Given the description of an element on the screen output the (x, y) to click on. 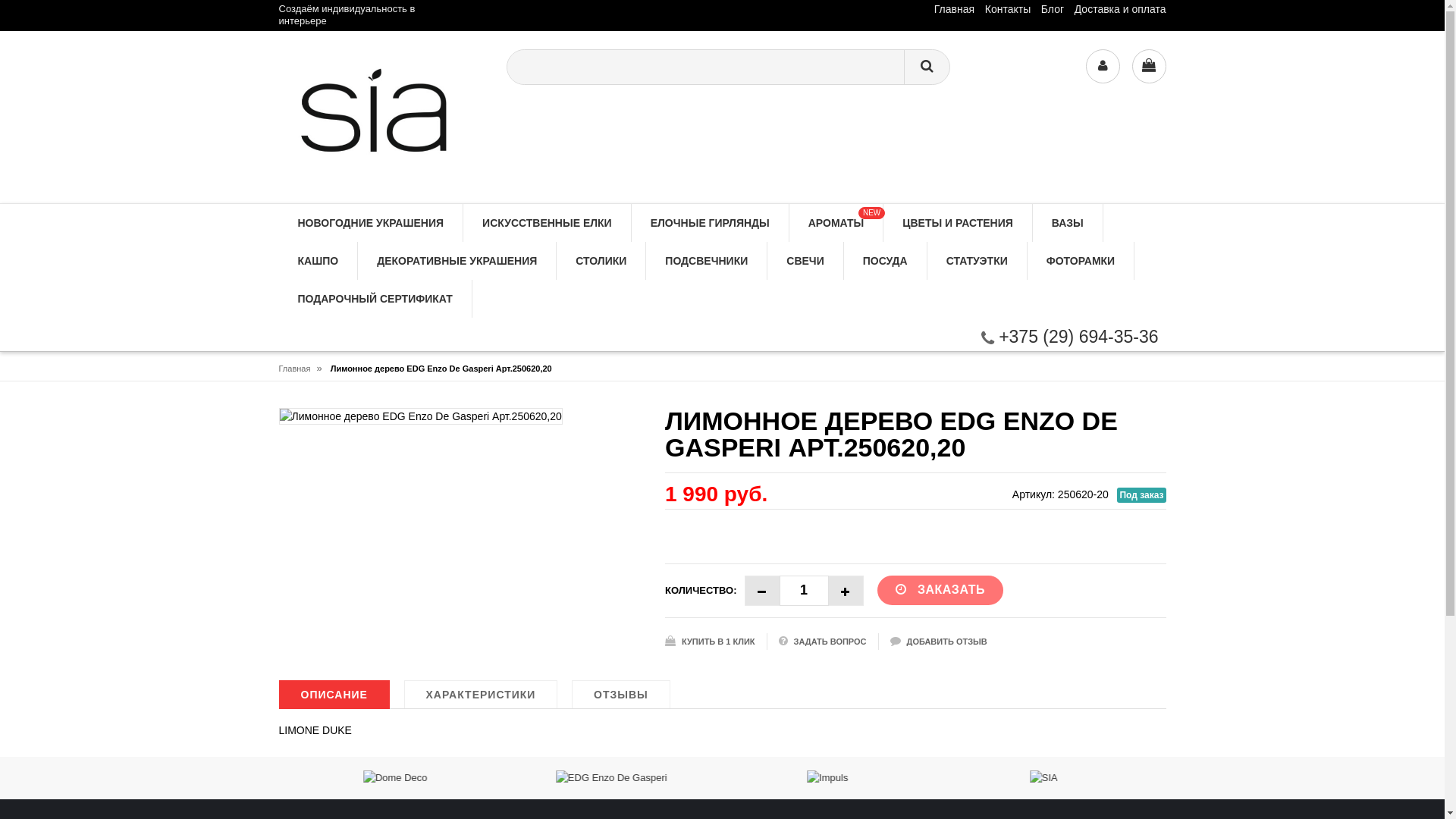
Home Fashion Element type: hover (381, 116)
+375 (29) 694-35-36 Element type: text (1069, 336)
  Element type: text (761, 590)
  Element type: text (845, 590)
